Given the description of an element on the screen output the (x, y) to click on. 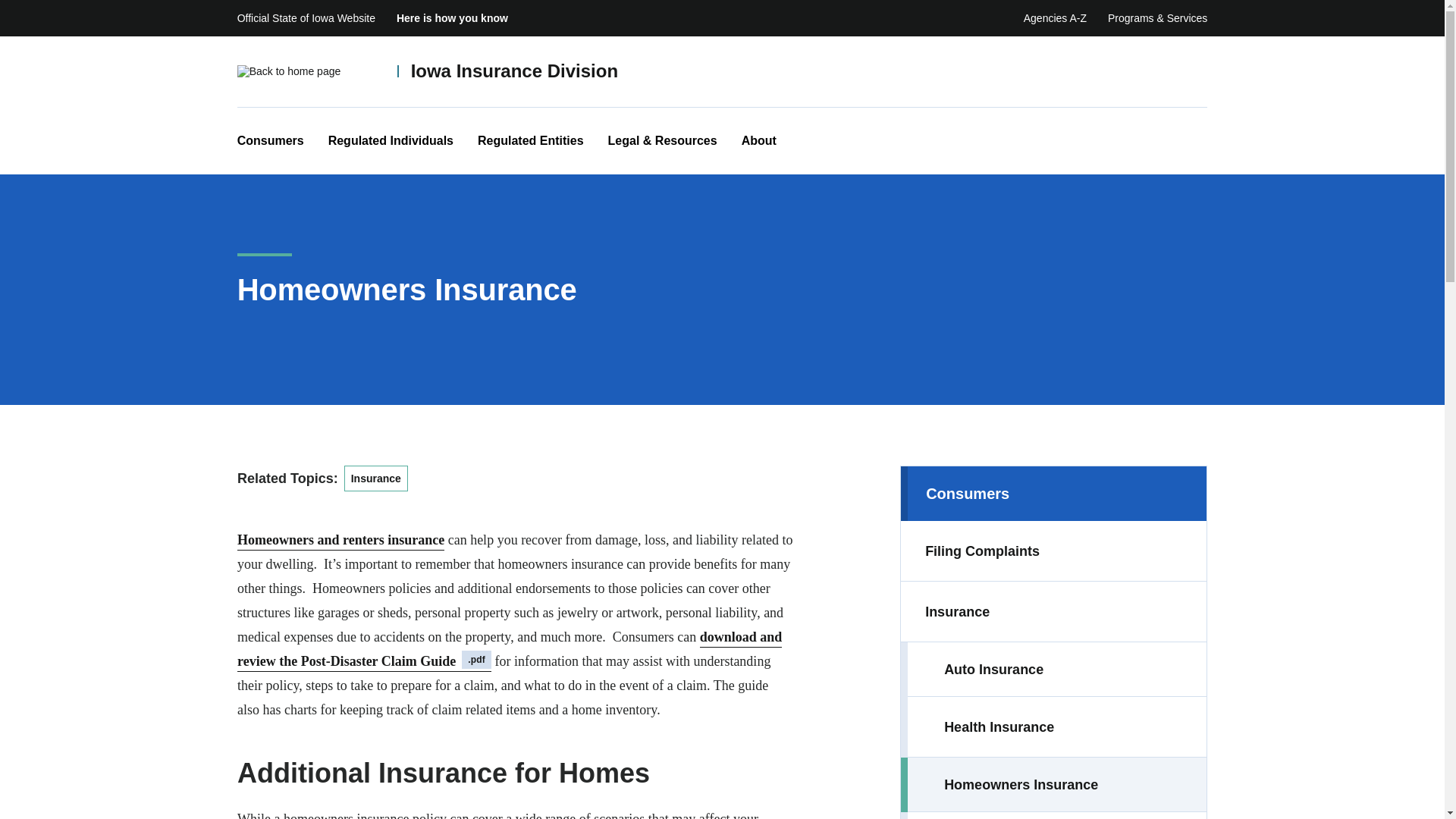
Iowa Insurance Division (513, 71)
Consumers (270, 140)
Agencies A-Z (1054, 18)
Post-Disaster Claims Guide (509, 648)
Regulated Individuals (390, 140)
Legal information, repots and data can be found here. (662, 140)
Regulated Entities (530, 140)
